Given the description of an element on the screen output the (x, y) to click on. 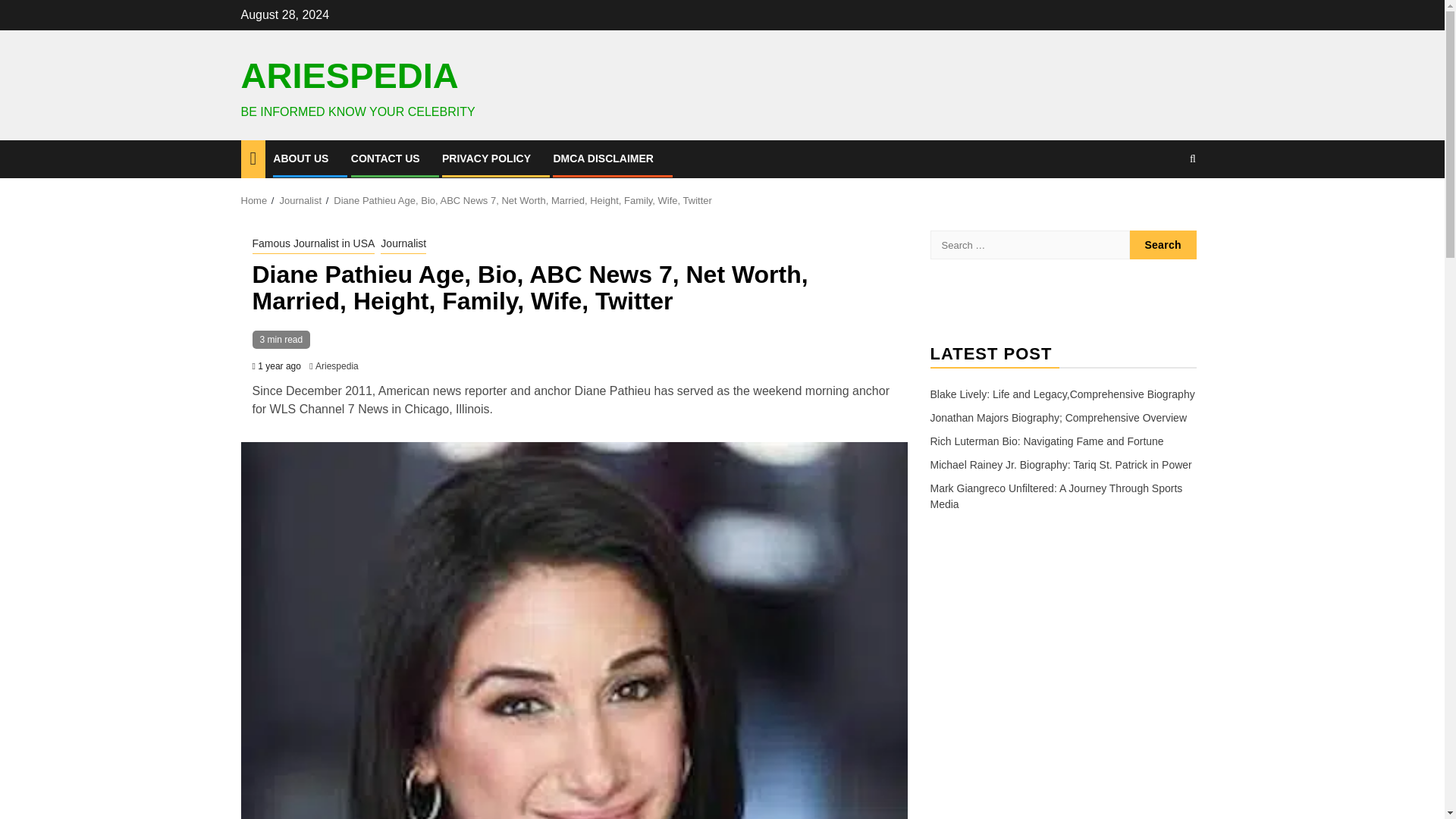
Ariespedia (336, 366)
Search (1162, 244)
DMCA DISCLAIMER (602, 157)
Blake Lively: Life and Legacy,Comprehensive Biography (1061, 394)
Jonathan Majors Biography; Comprehensive Overview (1058, 417)
Mark Giangreco Unfiltered: A Journey Through Sports Media (1056, 496)
Famous Journalist in USA (312, 244)
Rich Luterman Bio: Navigating Fame and Fortune (1046, 440)
Search (1162, 244)
